Given the description of an element on the screen output the (x, y) to click on. 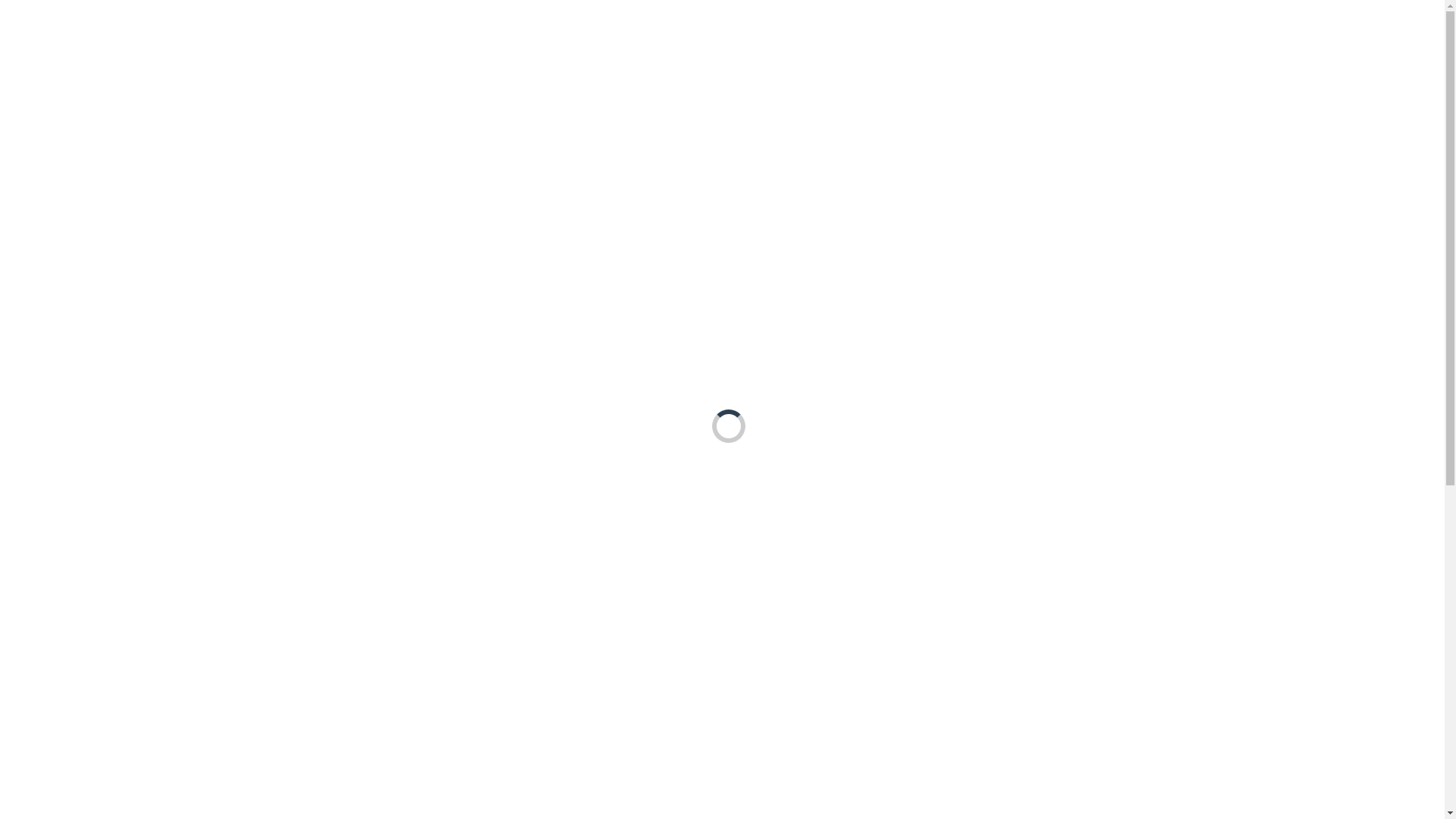
Submit Element type: text (262, 719)
Privacy Policy Element type: text (1168, 28)
Contact Us Element type: text (1066, 28)
January 2023 Element type: text (1056, 717)
Stay Updated On News Liverpool FC, Use A Bookmaker Element type: text (1056, 505)
Home Element type: text (908, 28)
Watch Football Highlights, Use Sports Viewing Package Element type: text (1056, 455)
About Us Element type: text (978, 28)
How To Watch Live Stream Arsenal In Malaysia Element type: text (1056, 366)
Soccer Live Score: Keep Up with the Action Element type: text (1056, 545)
November 2022 Element type: text (1056, 779)
Search Element type: text (949, 195)
December 2022 Element type: text (1056, 748)
cyberset Element type: text (281, 27)
What Makes A Great Soccer Live Score Website? Element type: text (1056, 406)
